Given the description of an element on the screen output the (x, y) to click on. 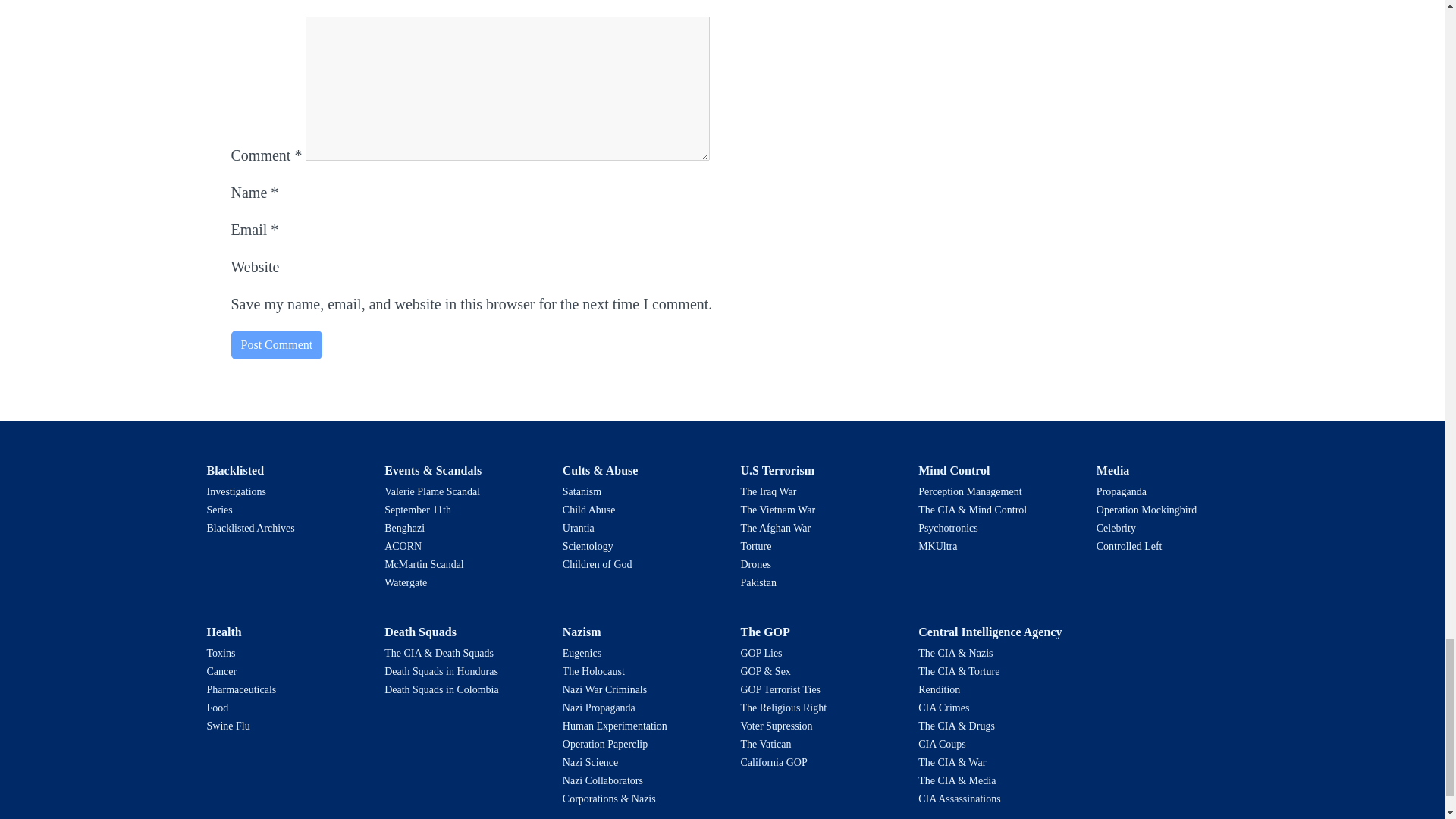
Post Comment (275, 344)
